Given the description of an element on the screen output the (x, y) to click on. 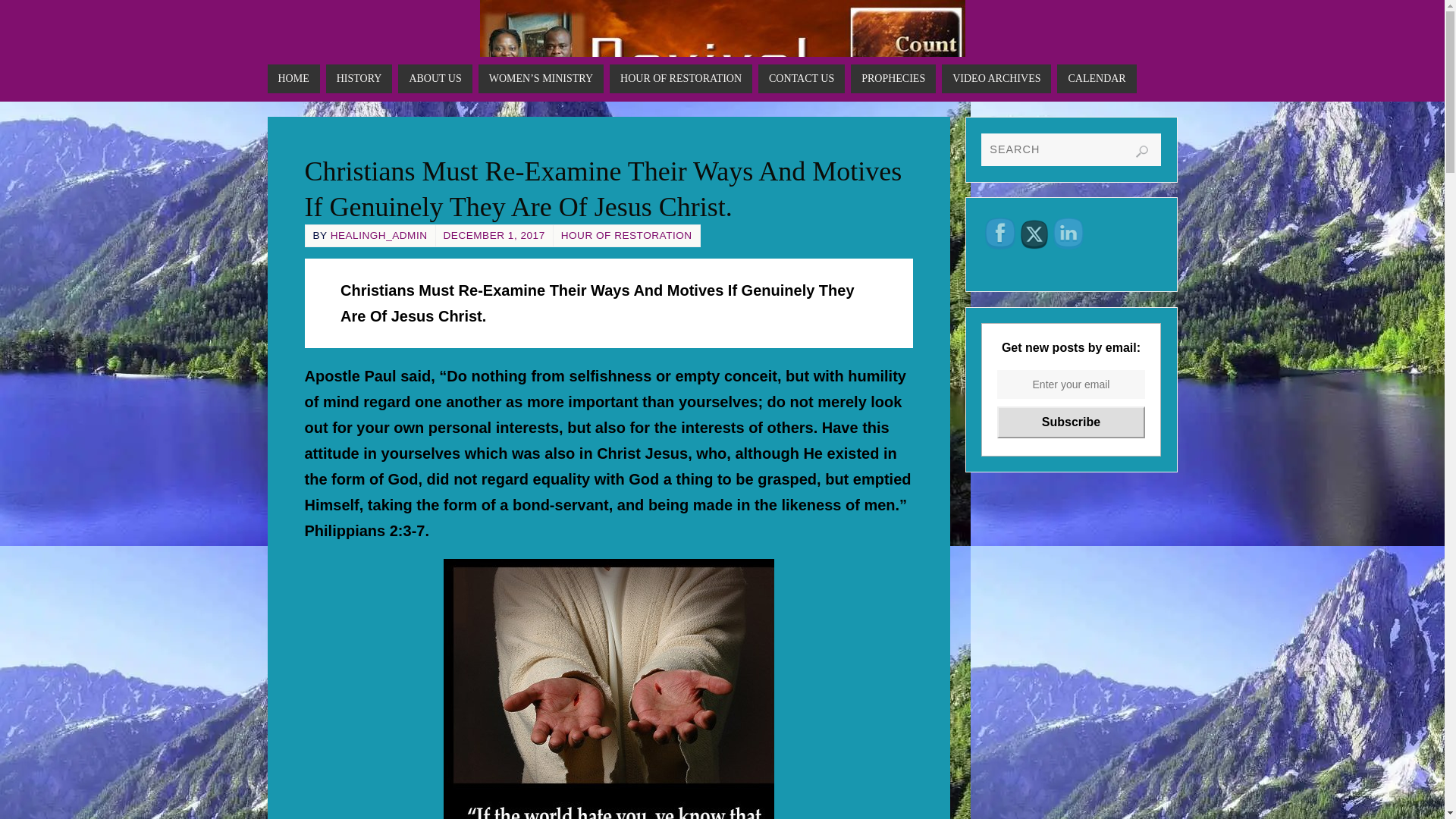
CONTACT US (801, 78)
HISTORY (359, 78)
Subscribe (1070, 422)
Facebook (999, 233)
HOUR OF RESTORATION (681, 78)
PROPHECIES (893, 78)
VIDEO ARCHIVES (996, 78)
Subscribe (1070, 422)
CALENDAR (1096, 78)
HOME (292, 78)
